Given the description of an element on the screen output the (x, y) to click on. 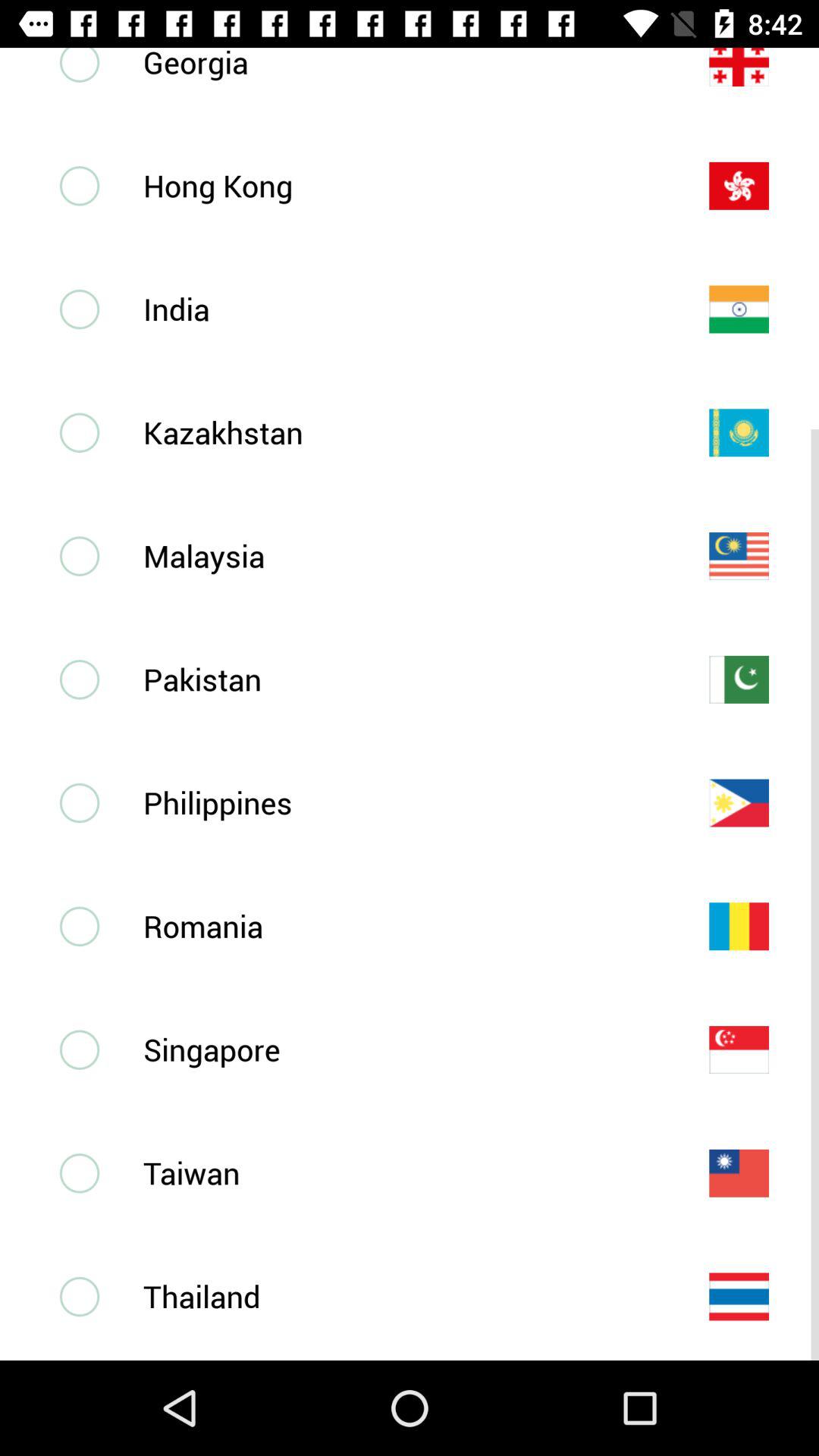
open the india item (401, 308)
